Given the description of an element on the screen output the (x, y) to click on. 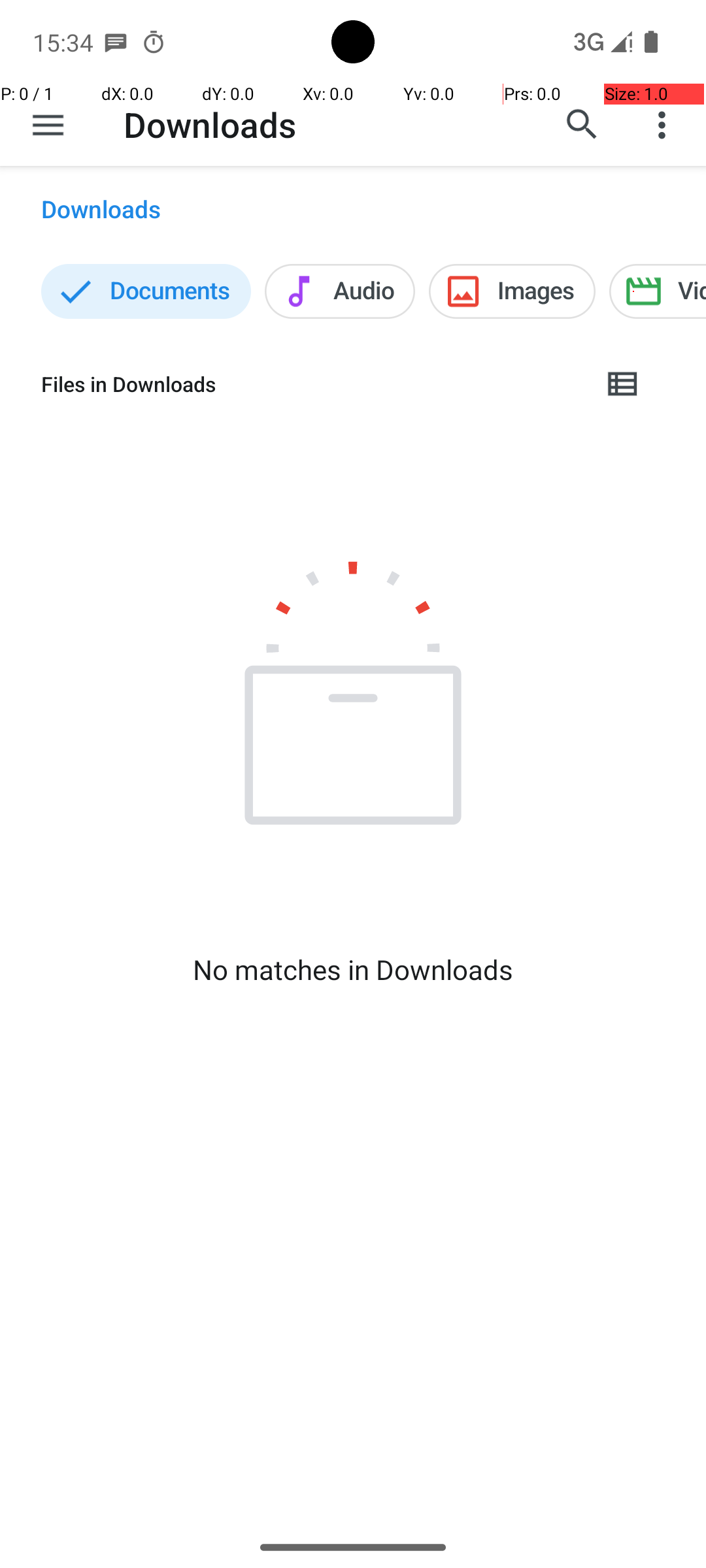
SMS Messenger notification: Amir dos Santos Element type: android.widget.ImageView (115, 41)
